Given the description of an element on the screen output the (x, y) to click on. 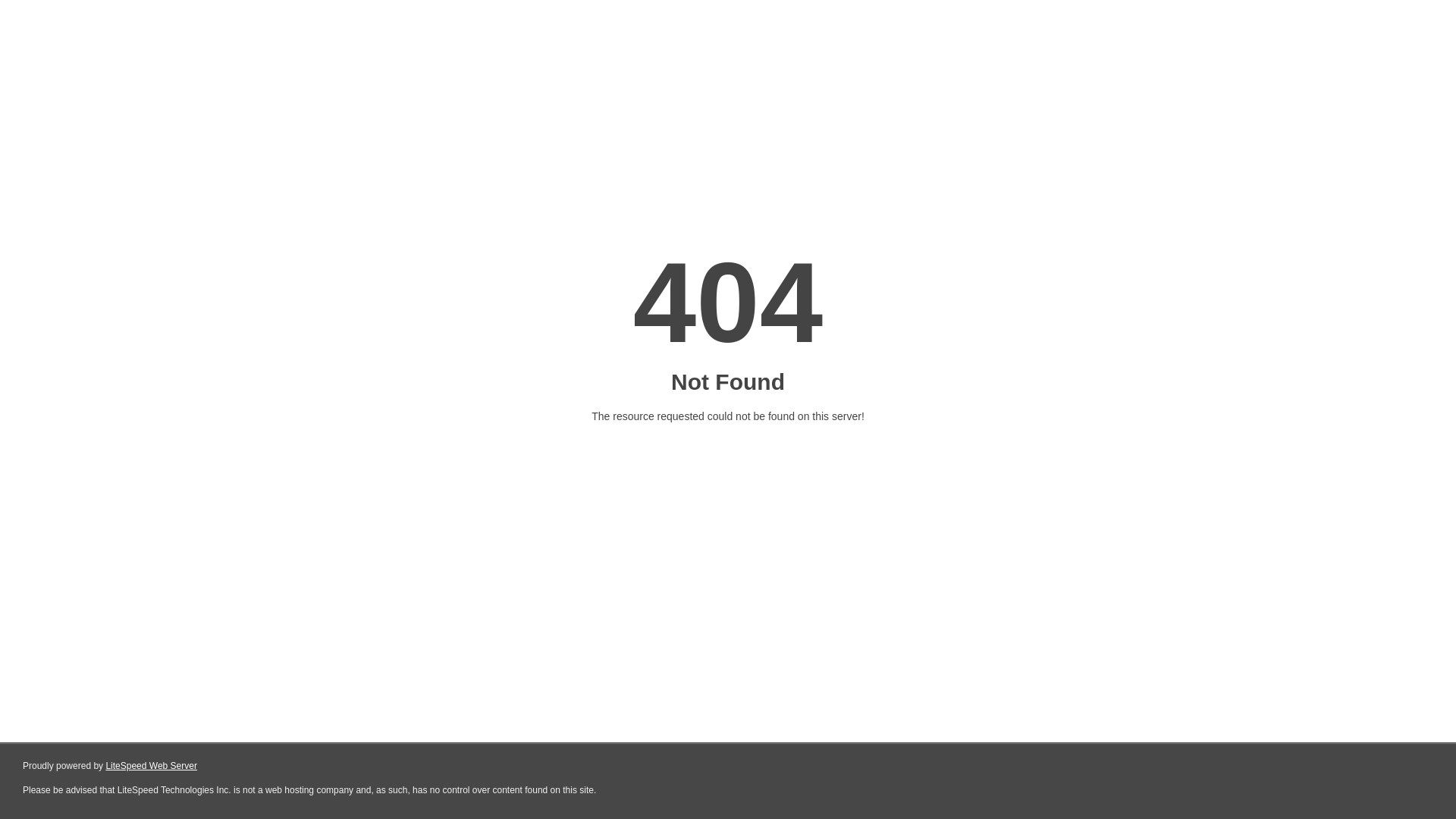
LiteSpeed Web Server Element type: text (151, 765)
